Given the description of an element on the screen output the (x, y) to click on. 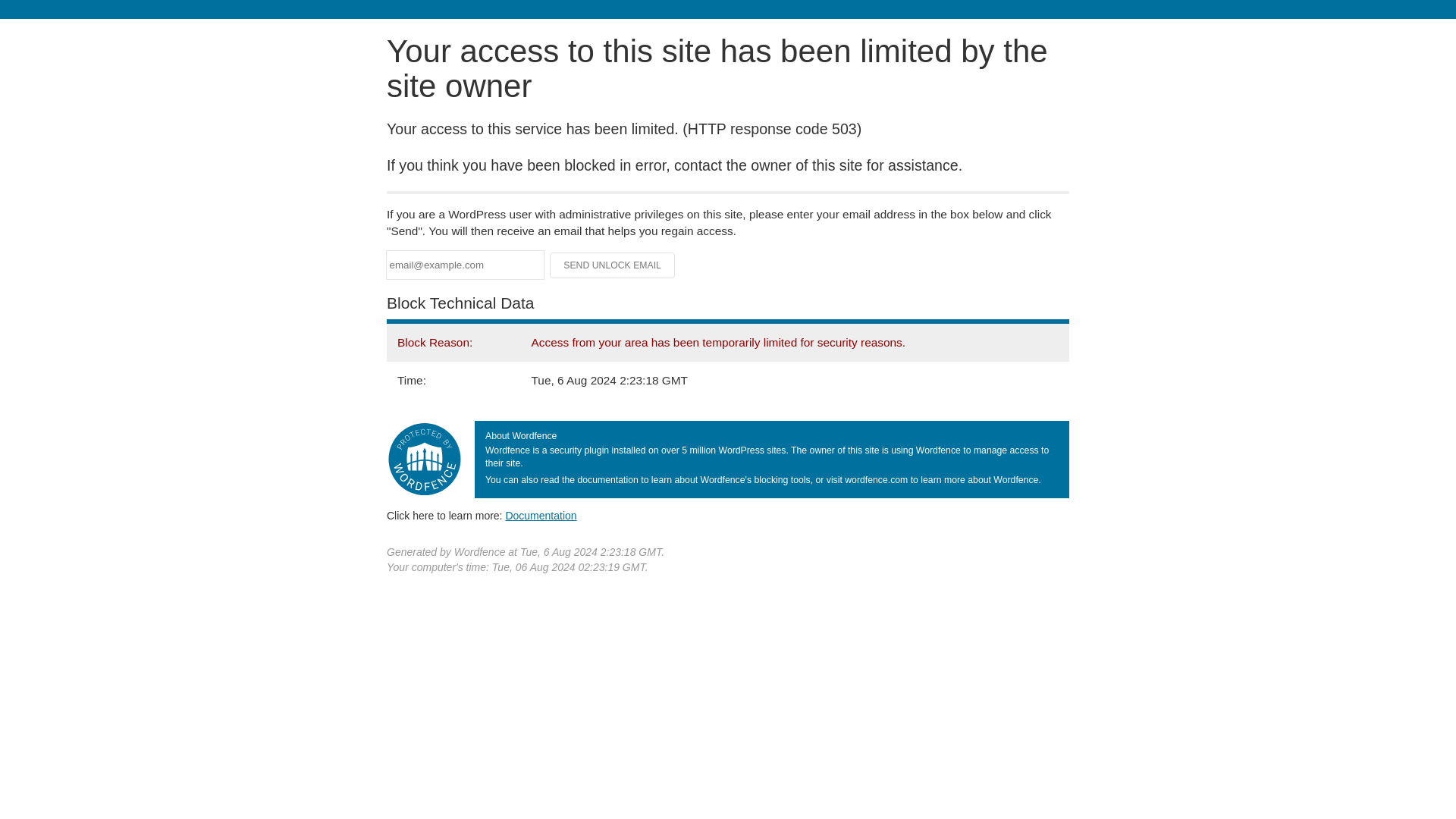
Send Unlock Email (612, 265)
Send Unlock Email (612, 265)
Documentation (540, 515)
